Given the description of an element on the screen output the (x, y) to click on. 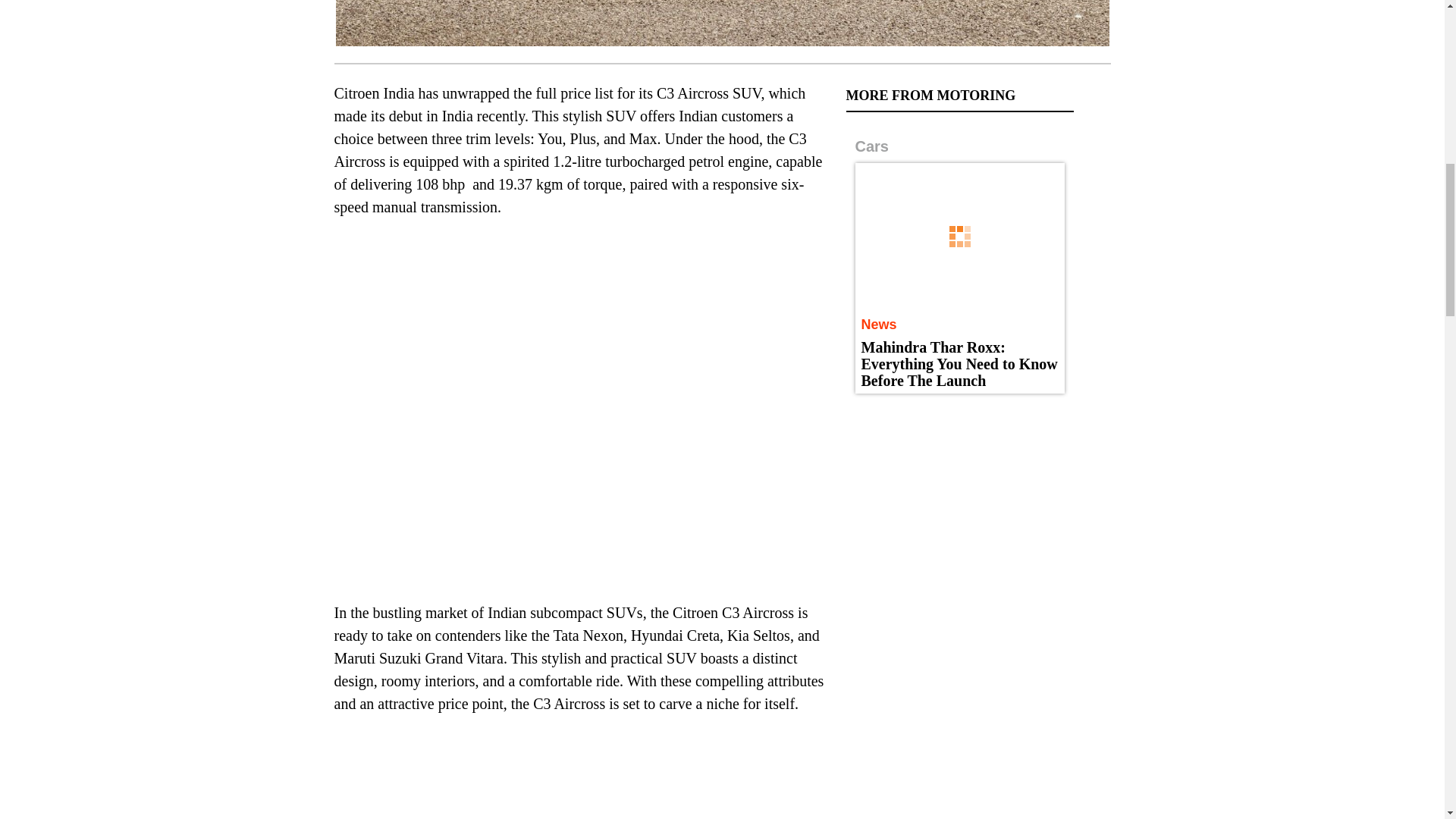
News (878, 324)
Cars (872, 146)
3rd party ad content (959, 504)
